Given the description of an element on the screen output the (x, y) to click on. 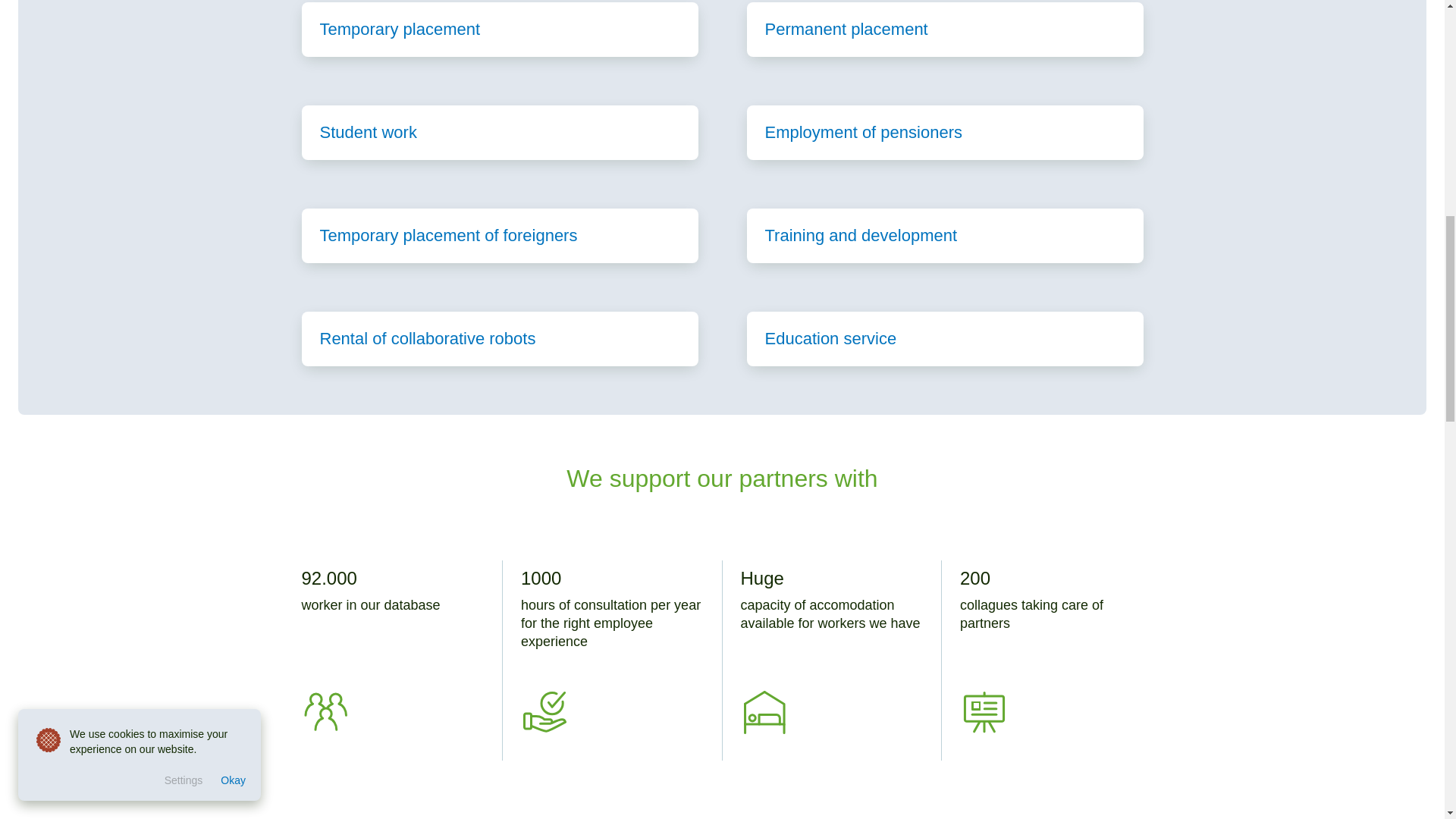
Temporary placement of foreigners (499, 235)
Temporary placement (499, 29)
Rental of collaborative robots (499, 339)
Employment of pensioners (943, 132)
Education service (943, 339)
Student work (499, 132)
Training and development (943, 235)
Permanent placement (943, 29)
